Given the description of an element on the screen output the (x, y) to click on. 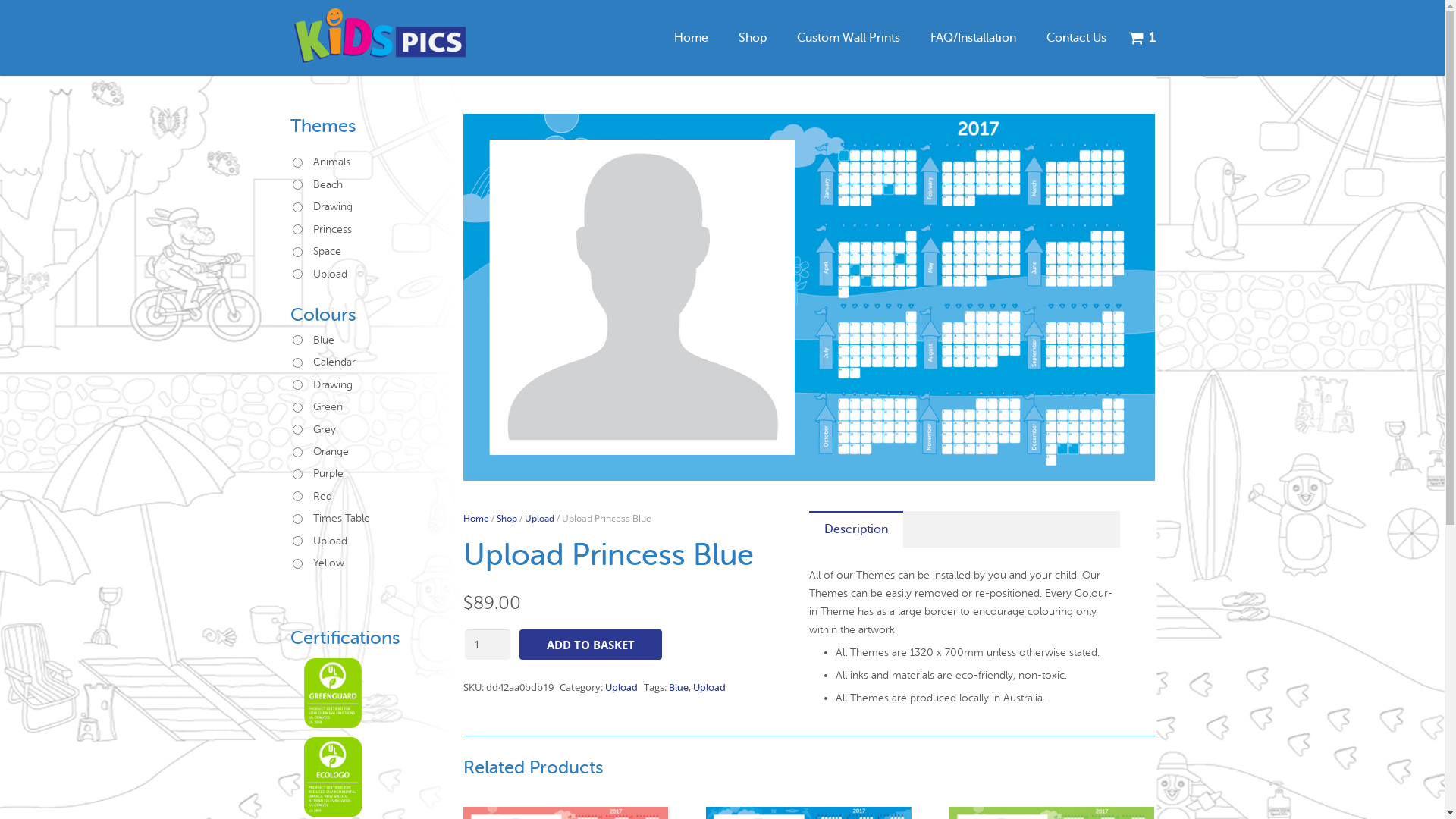
Upload Element type: text (621, 687)
Upload Element type: text (539, 518)
Contact Us Element type: text (1076, 37)
1 Element type: text (1137, 37)
Home Element type: text (475, 518)
Description Element type: text (855, 529)
Custom Wall Prints Element type: text (847, 37)
Blue-Princess-PHOTO Element type: hover (808, 296)
Home Element type: text (690, 37)
ADD TO BASKET Element type: text (589, 644)
Qty Element type: hover (486, 644)
Upload Element type: text (709, 687)
FAQ/Installation Element type: text (972, 37)
Shop Element type: text (505, 518)
Shop Element type: text (752, 37)
Blue Element type: text (678, 687)
